Given the description of an element on the screen output the (x, y) to click on. 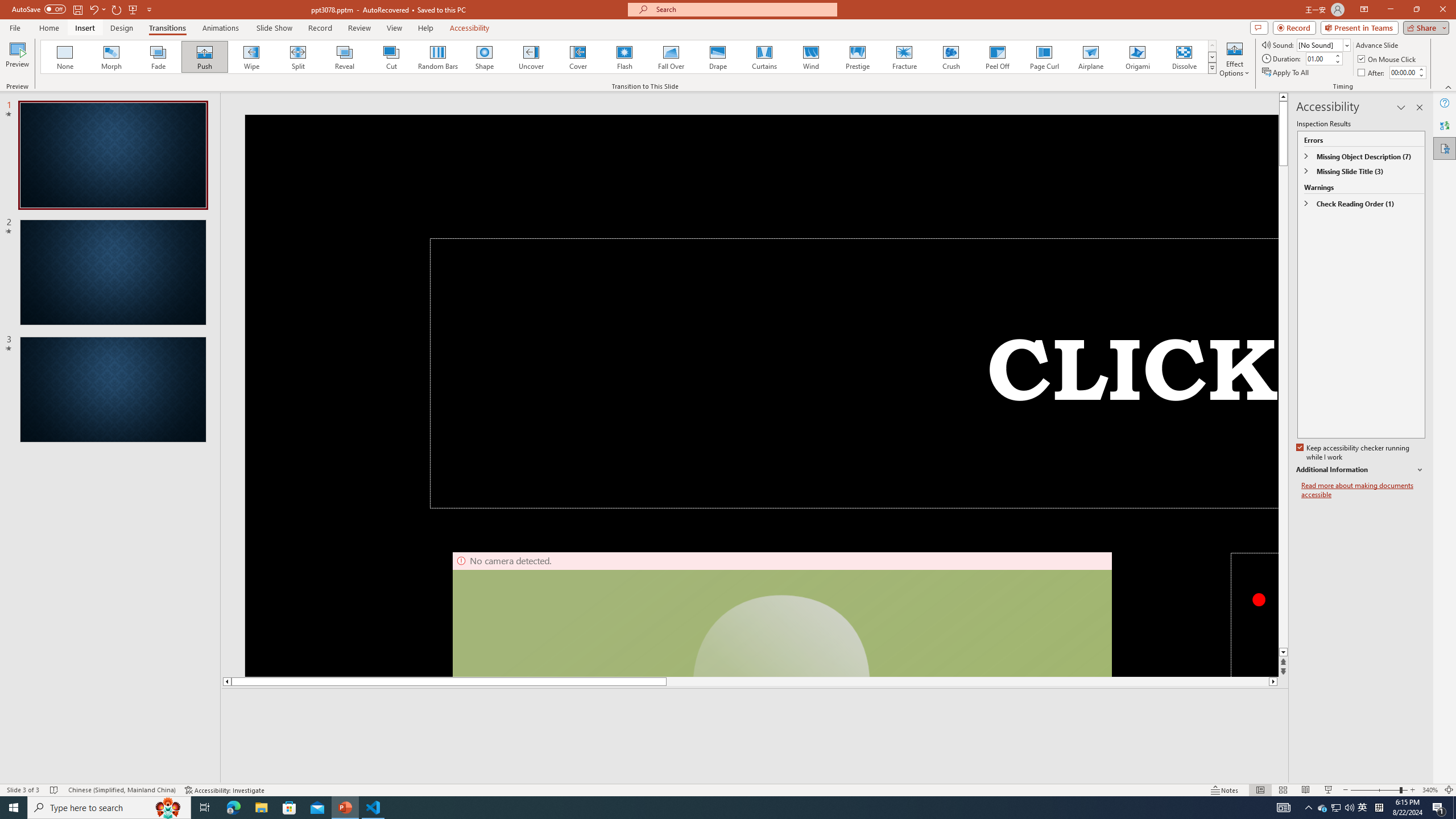
Fade (158, 56)
Page Curl (1043, 56)
Flash (624, 56)
Dissolve (1183, 56)
After (1372, 72)
After (1403, 72)
